Given the description of an element on the screen output the (x, y) to click on. 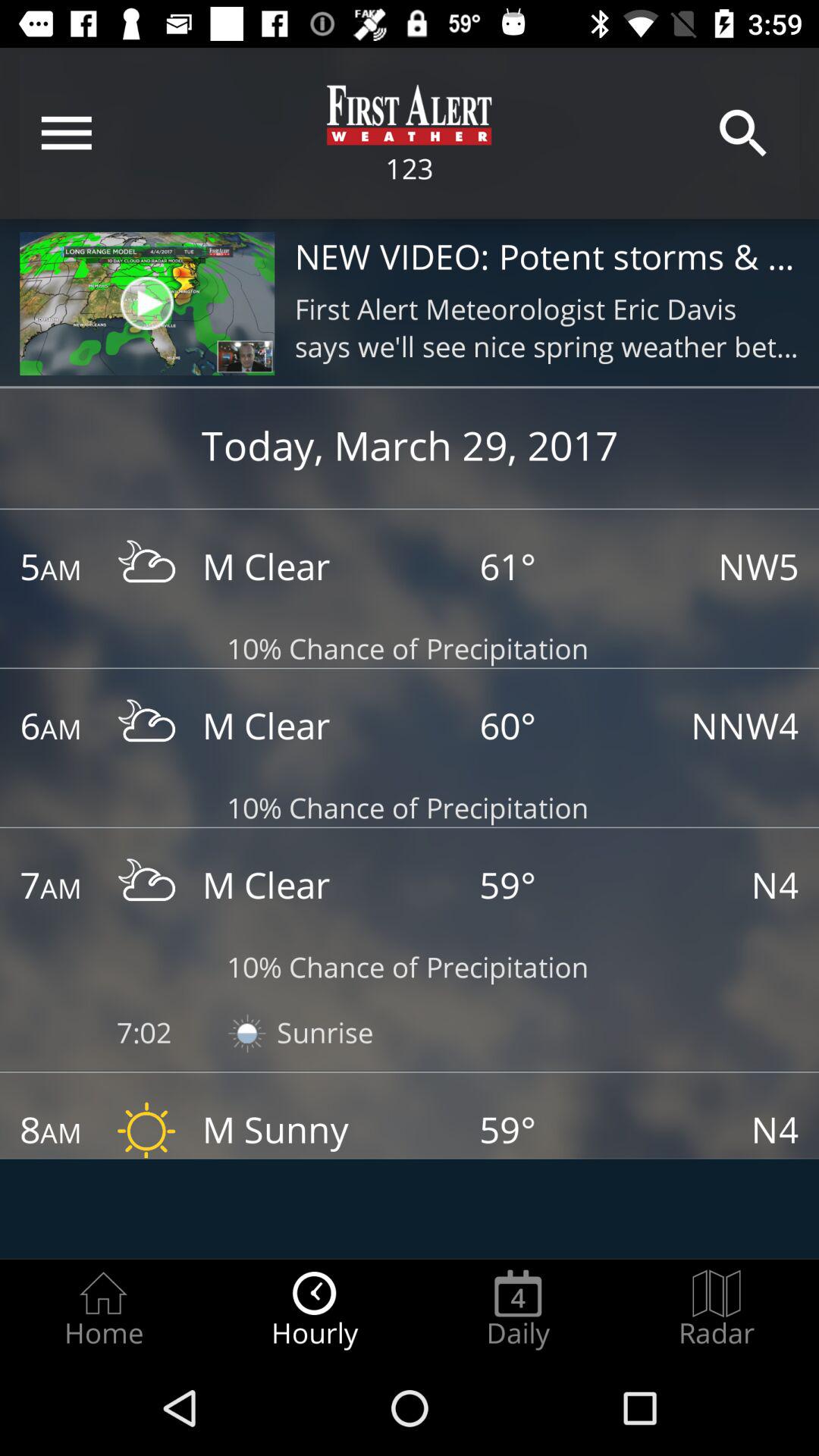
turn on the icon to the right of the daily (716, 1309)
